Given the description of an element on the screen output the (x, y) to click on. 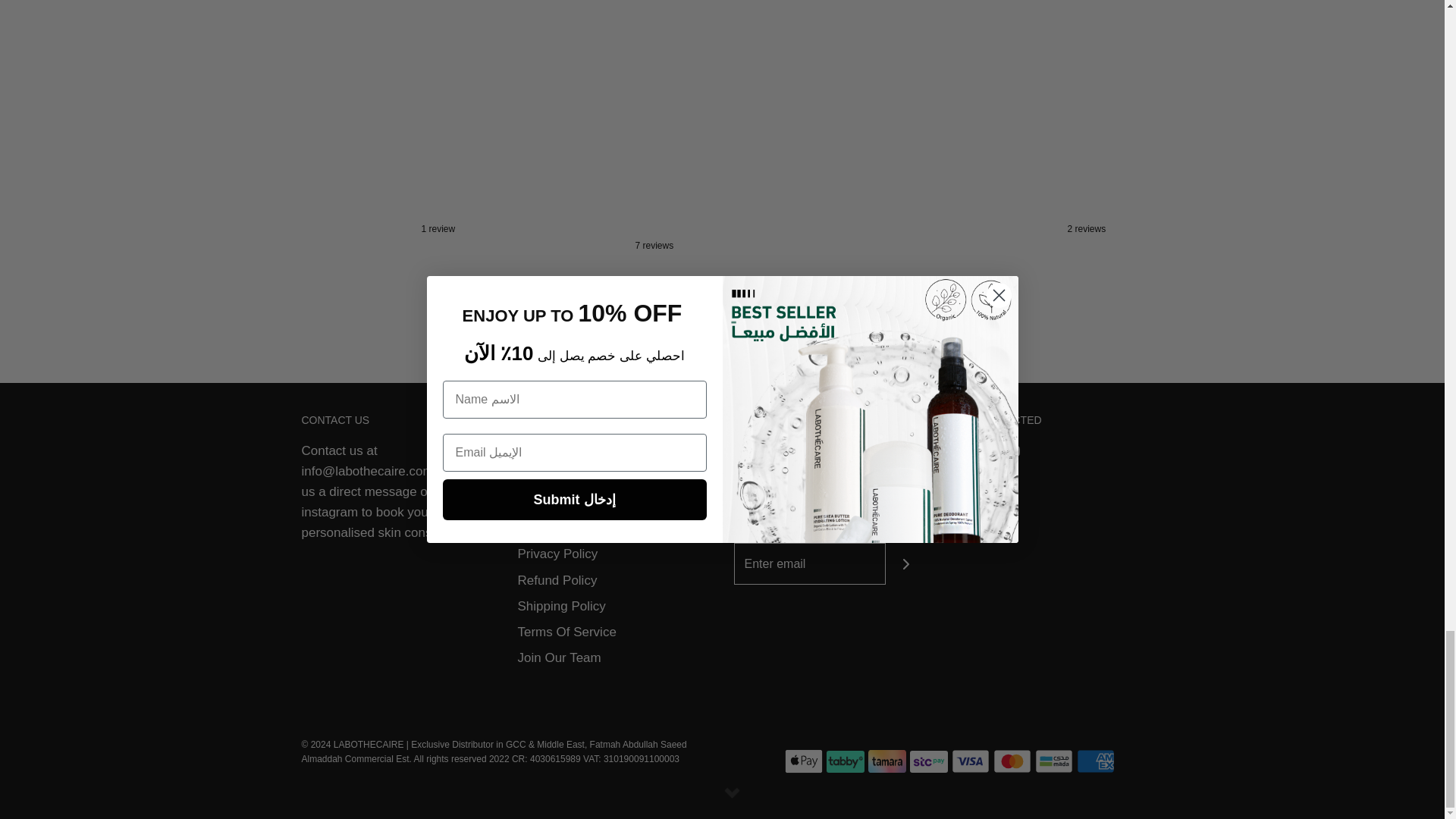
Facebook icon (956, 450)
Instagram icon (983, 450)
Visa (971, 761)
American Express (1096, 761)
Mastercard (1011, 761)
YouTube icon (1011, 450)
Mada (1054, 761)
